Given the description of an element on the screen output the (x, y) to click on. 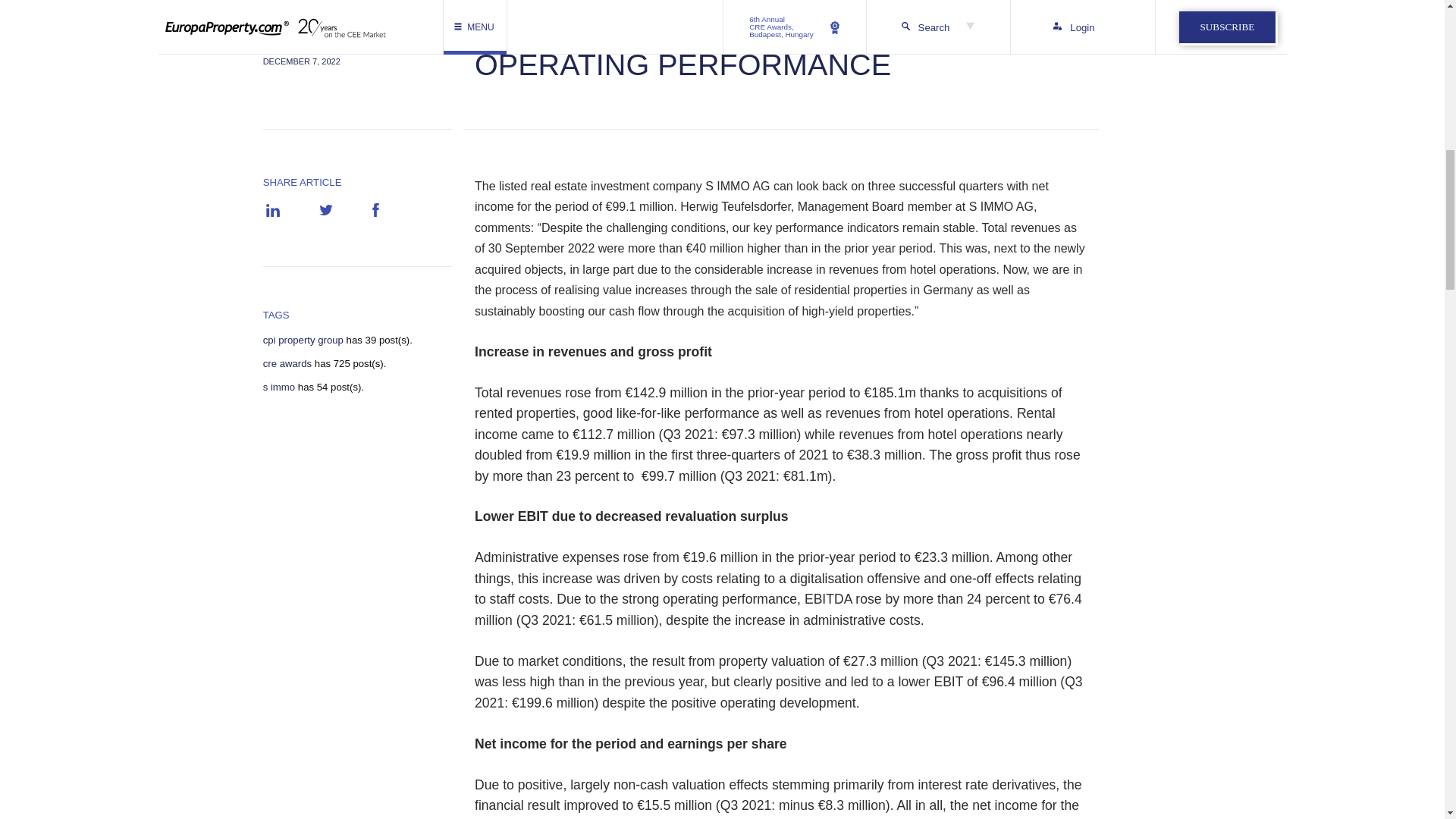
View all posts in cpi property group (303, 340)
View all posts in s immo (279, 387)
FINANCE (285, 28)
View all posts in cre awards (288, 363)
cre awards (288, 363)
s immo (279, 387)
cpi property group (303, 340)
